Given the description of an element on the screen output the (x, y) to click on. 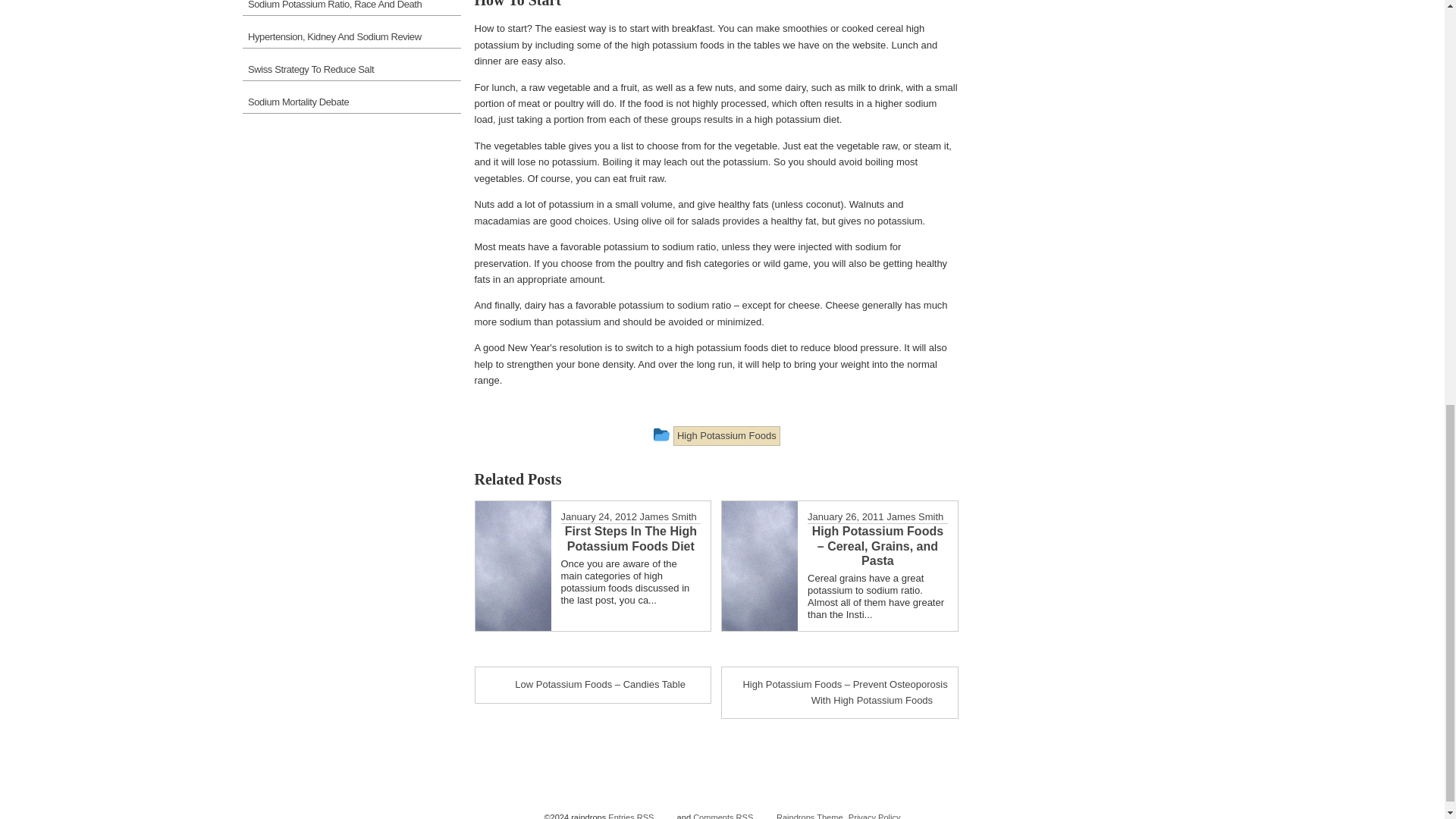
Sodium Mortality Debate (351, 99)
First Steps In The High Potassium Foods Diet (630, 538)
Swiss Strategy To Reduce Salt (351, 67)
January 26, 2011 (845, 516)
James Smith (914, 516)
Sodium Potassium Ratio, Race And Death (351, 7)
January 24, 2012 (598, 516)
James Smith (668, 516)
High Potassium Foods (726, 435)
Hypertension, Kidney And Sodium Review (351, 34)
